Given the description of an element on the screen output the (x, y) to click on. 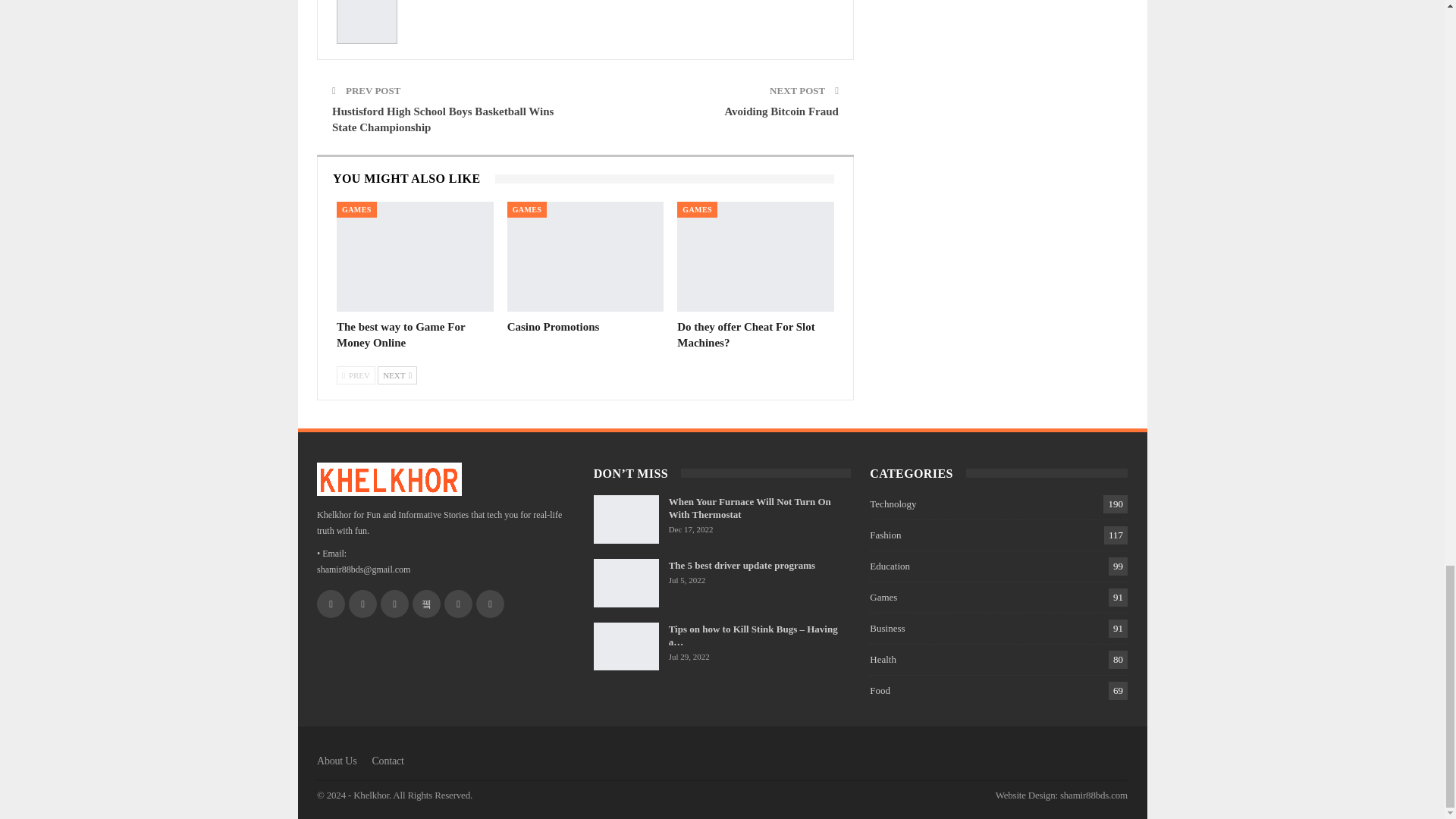
The best way to Game For Money Online (400, 334)
Casino Promotions (552, 326)
The best way to Game For Money Online (414, 256)
Do they offer Cheat For Slot Machines? (746, 334)
Casino Promotions (584, 256)
Do they offer Cheat For Slot Machines? (755, 256)
